Given the description of an element on the screen output the (x, y) to click on. 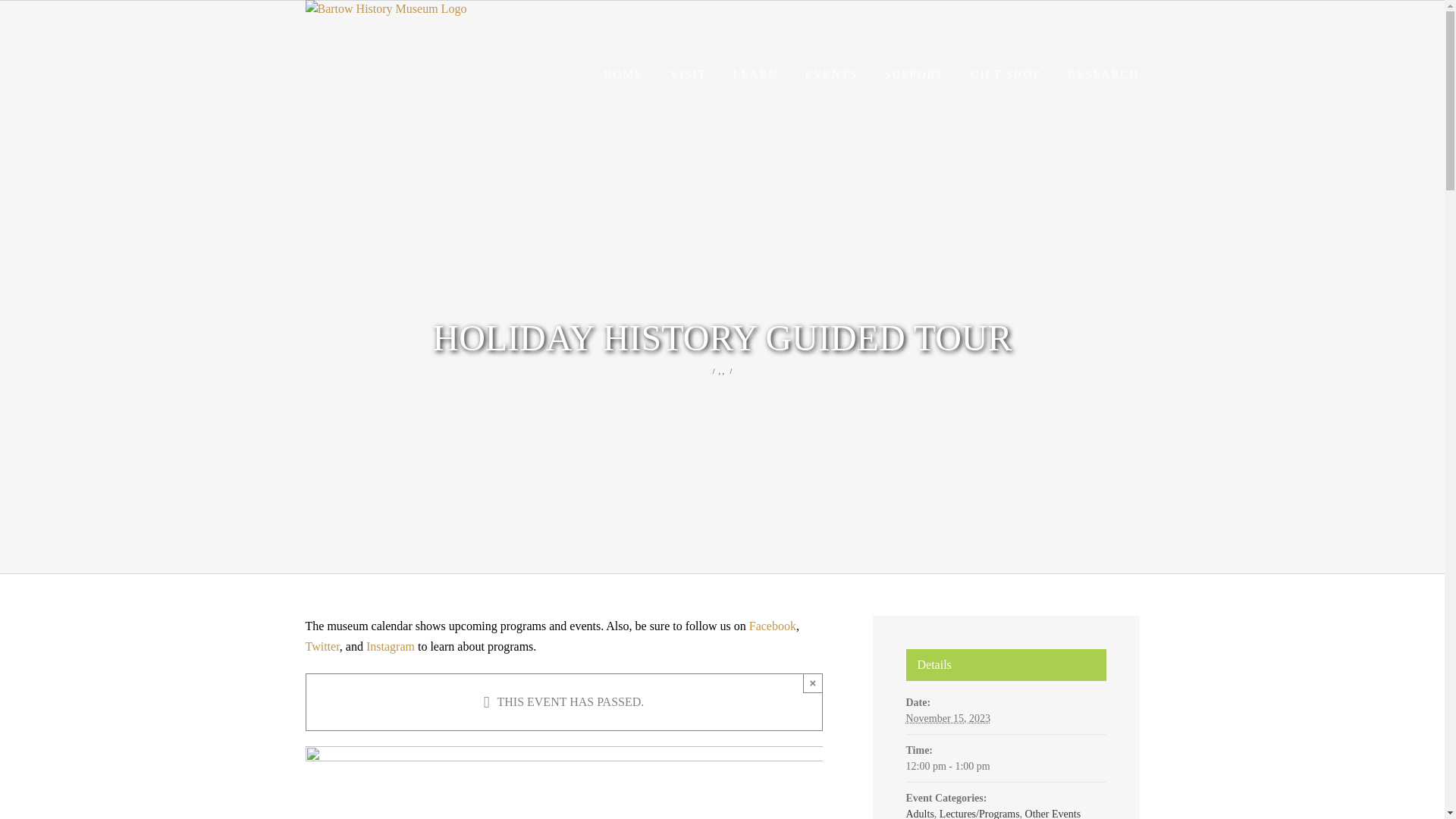
2023-11-15 (1005, 765)
SUPPORT (913, 73)
VISIT (687, 73)
EVENTS (832, 73)
LEARN (754, 73)
2023-11-15 (947, 717)
GIFT SHOP (1006, 73)
HOME (623, 73)
RESEARCH (1102, 73)
